Given the description of an element on the screen output the (x, y) to click on. 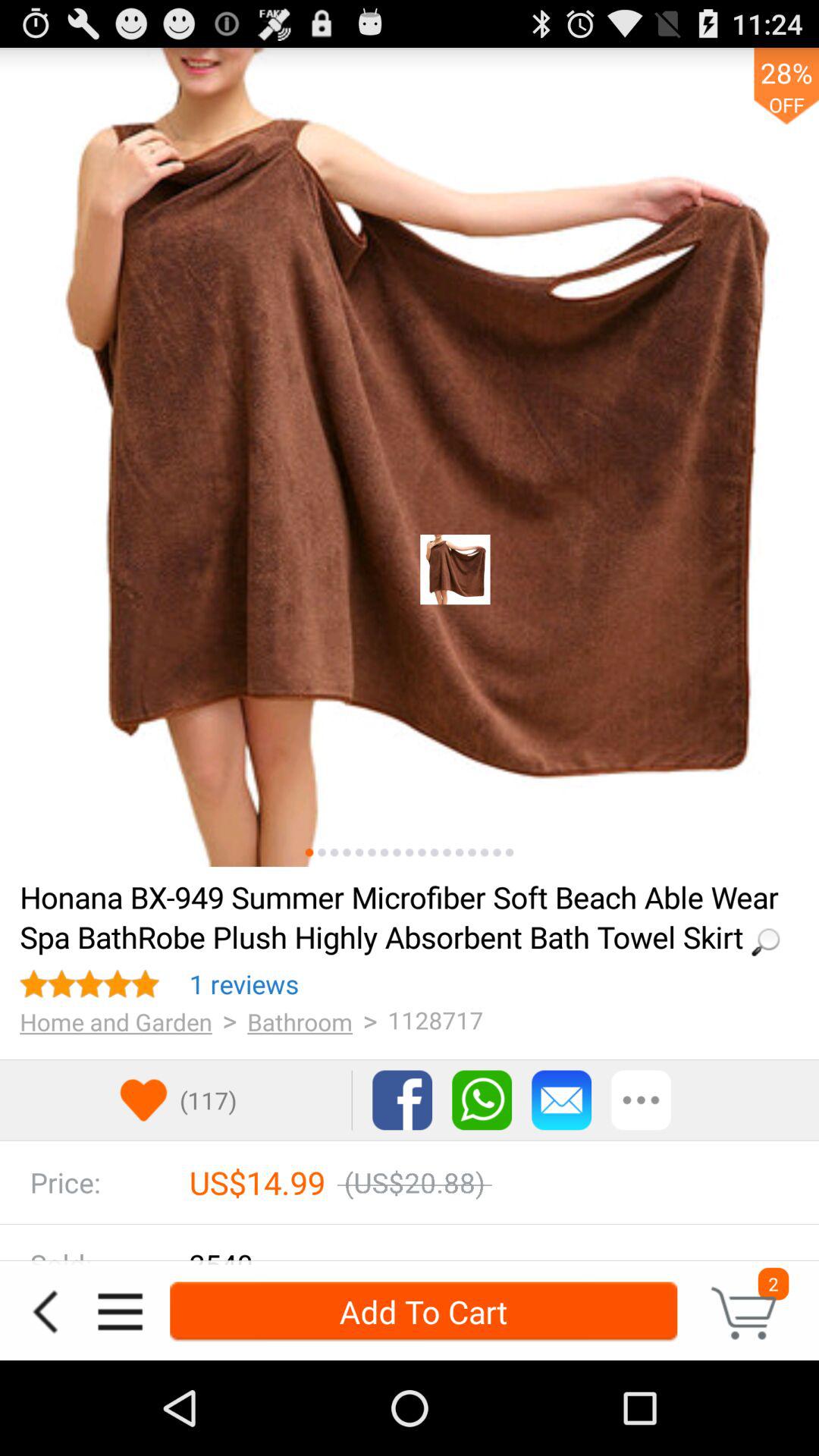
facebook link (402, 1100)
